Given the description of an element on the screen output the (x, y) to click on. 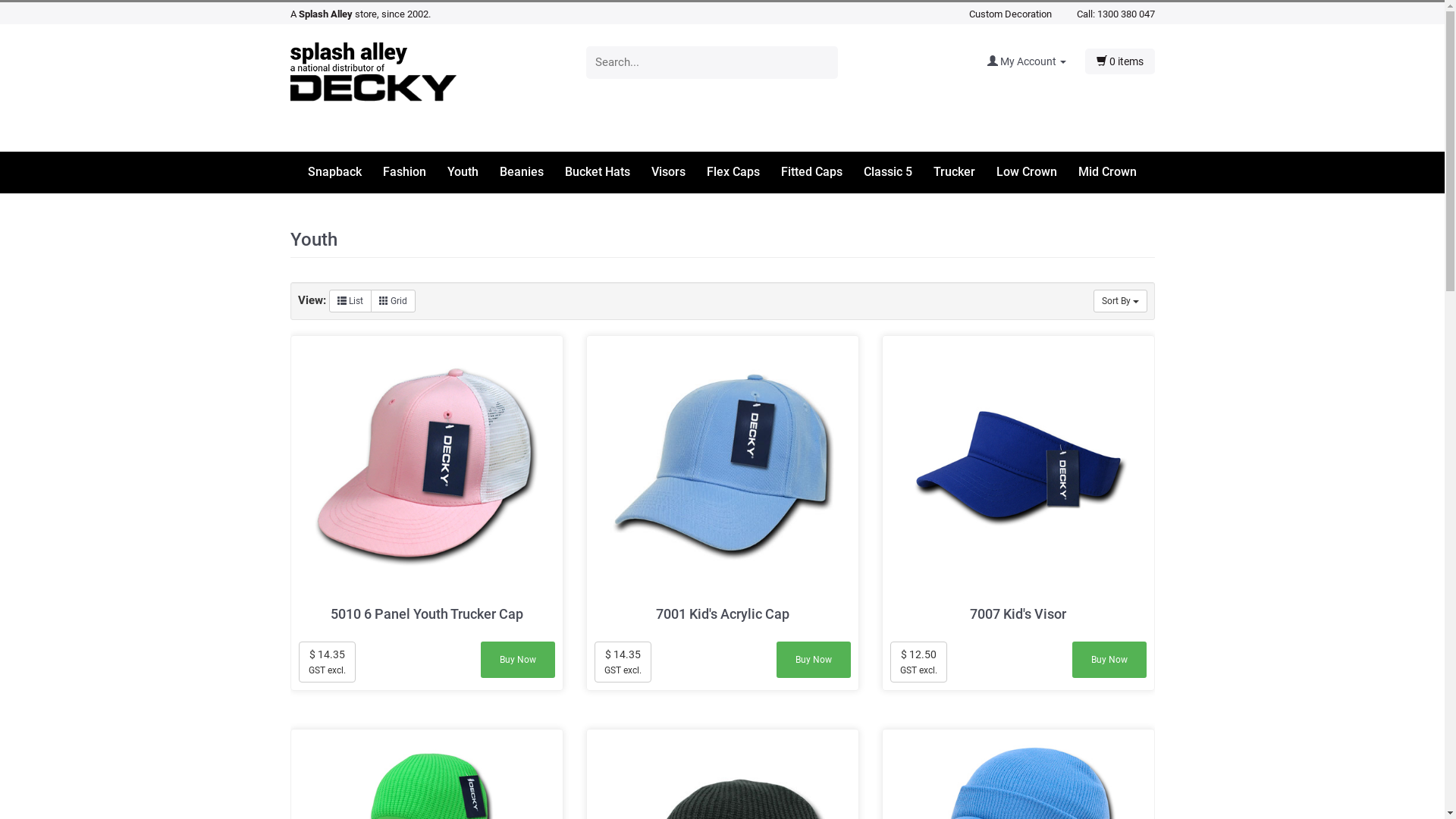
Low Crown Element type: text (1035, 172)
Youth Element type: text (471, 172)
5010 6 Panel Youth Trucker Cap Element type: hover (426, 467)
Mid Crown Element type: text (1107, 172)
$ 14.35
GST excl. Element type: text (326, 661)
Buy Now Element type: text (813, 659)
Buy Now Element type: text (517, 659)
Grid Element type: text (392, 300)
Classic 5 Element type: text (896, 172)
Flex Caps Element type: text (742, 172)
Custom Decoration Element type: text (1010, 13)
5010 6 Panel Youth Trucker Cap Element type: text (426, 613)
$ 14.35
GST excl. Element type: text (622, 661)
List Element type: text (350, 300)
Buy Now Element type: text (1109, 659)
Trucker Element type: text (963, 172)
1300 380 047 Element type: text (1125, 13)
Snapback Element type: text (343, 172)
Beanies Element type: text (530, 172)
$ 12.50
GST excl. Element type: text (918, 661)
Fashion Element type: text (413, 172)
Fitted Caps Element type: text (820, 172)
Sort By Element type: text (1120, 300)
7001 Kid's Acrylic Cap Element type: text (722, 613)
My Account Element type: text (1036, 61)
7007 Kid's Visor Element type: text (1018, 613)
7001 Kid's Acrylic Cap Element type: hover (721, 467)
Bucket Hats Element type: text (606, 172)
7007 Kid's Visor Element type: hover (1017, 467)
Visors Element type: text (677, 172)
